Given the description of an element on the screen output the (x, y) to click on. 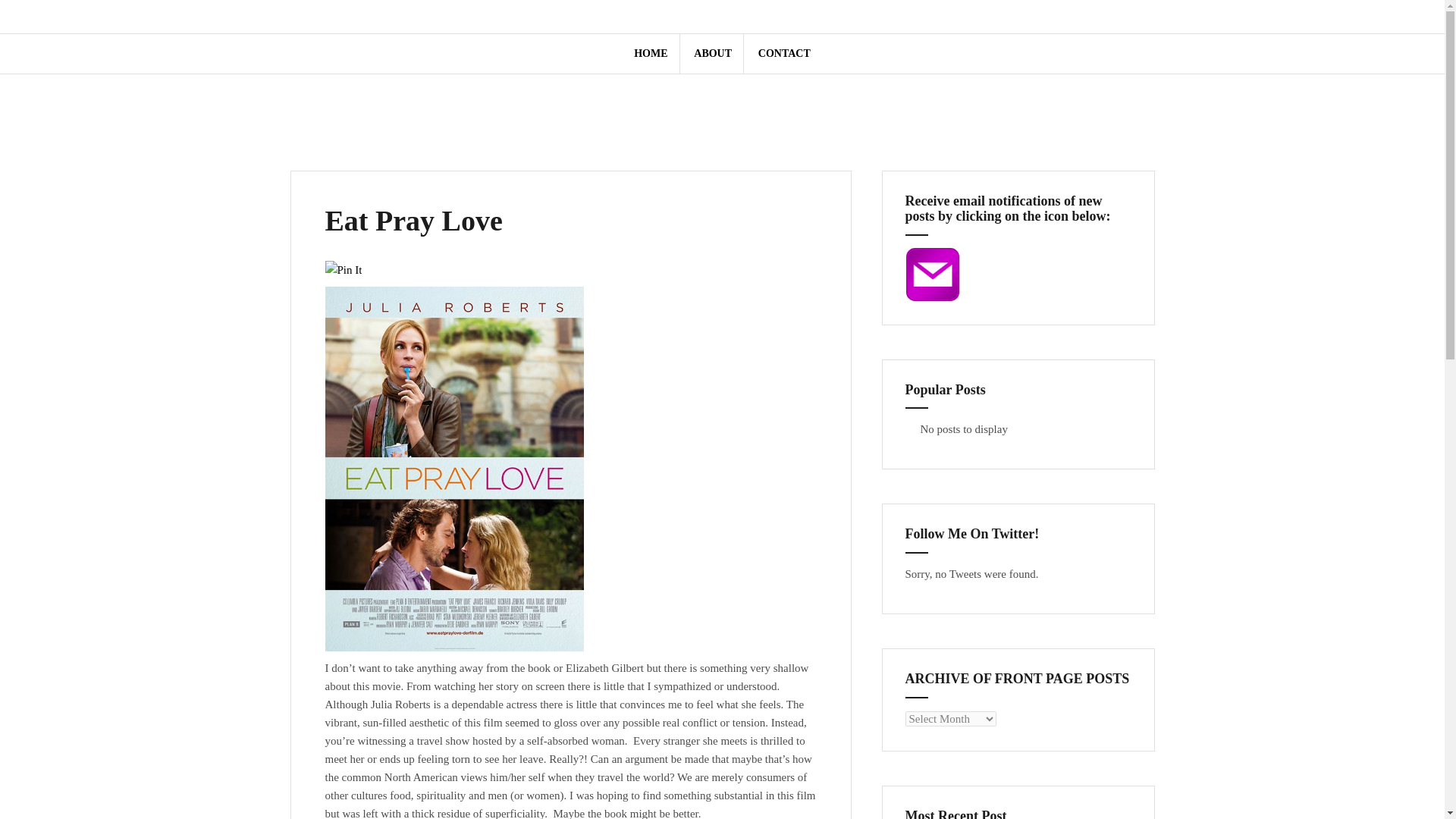
HOME (704, 16)
CONTACT (784, 53)
CONTACT (740, 16)
Pin It (342, 270)
Search (28, 20)
ABOUT (721, 16)
HOME (649, 53)
ABOUT (713, 53)
Subscribe via Email (932, 272)
